Given the description of an element on the screen output the (x, y) to click on. 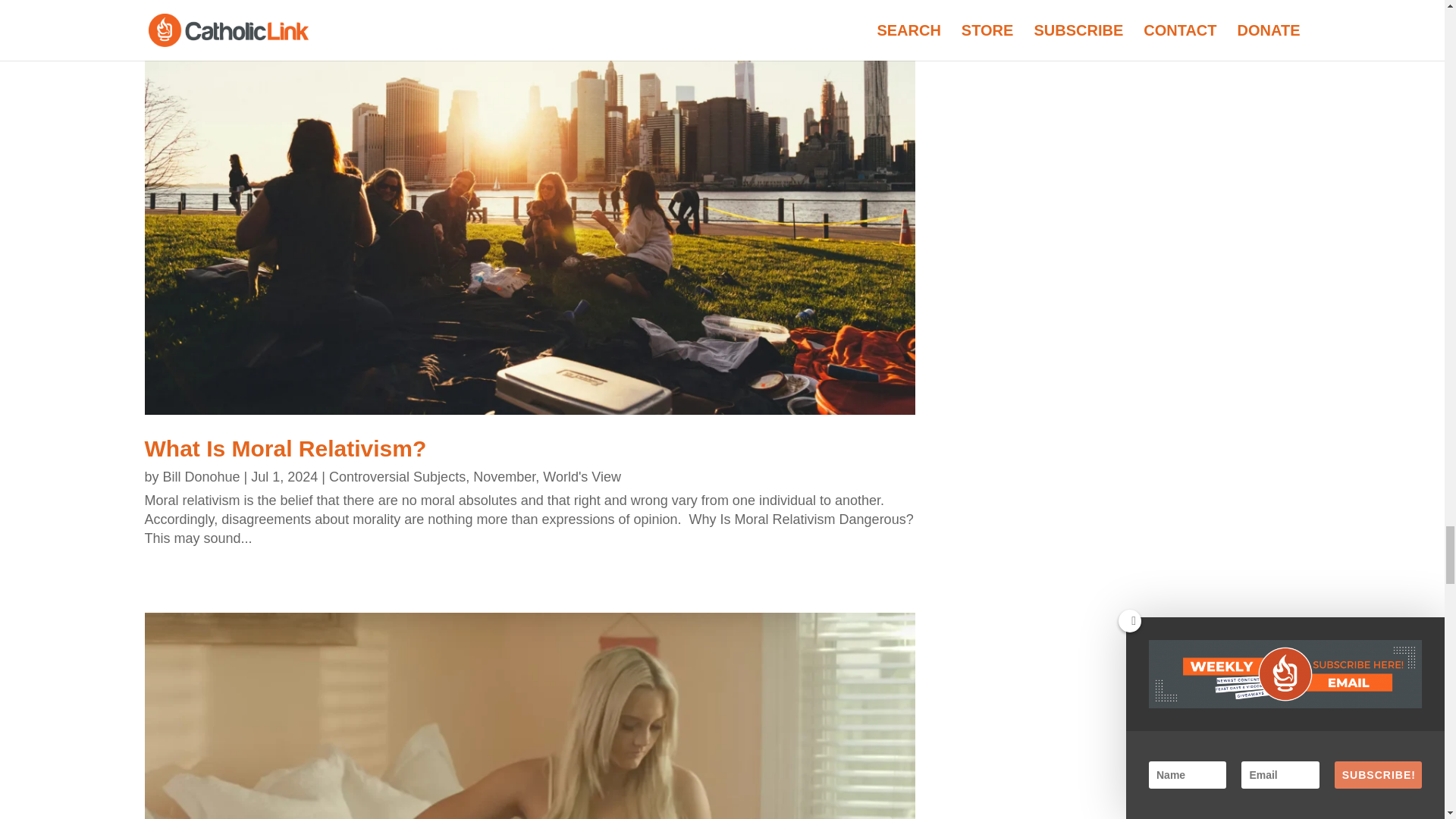
Posts by Bill Donohue (201, 476)
